Given the description of an element on the screen output the (x, y) to click on. 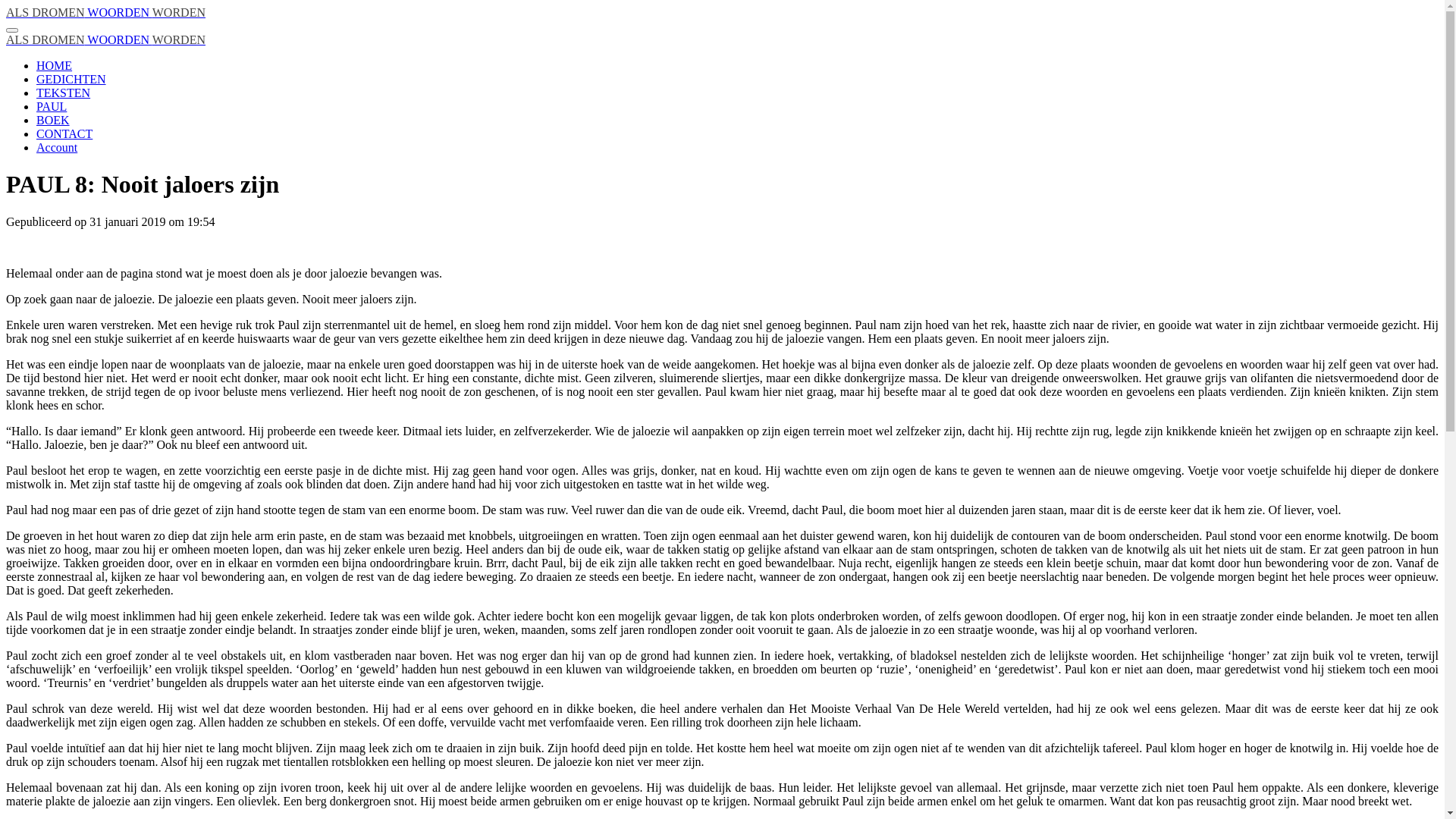
CONTACT Element type: text (64, 133)
Account Element type: text (56, 147)
BOEK Element type: text (52, 119)
TEKSTEN Element type: text (63, 92)
ALS DROMEN WOORDEN WORDEN Element type: text (105, 39)
PAUL Element type: text (51, 106)
GEDICHTEN Element type: text (71, 78)
ALS DROMEN WOORDEN WORDEN Element type: text (105, 12)
HOME Element type: text (54, 65)
